Given the description of an element on the screen output the (x, y) to click on. 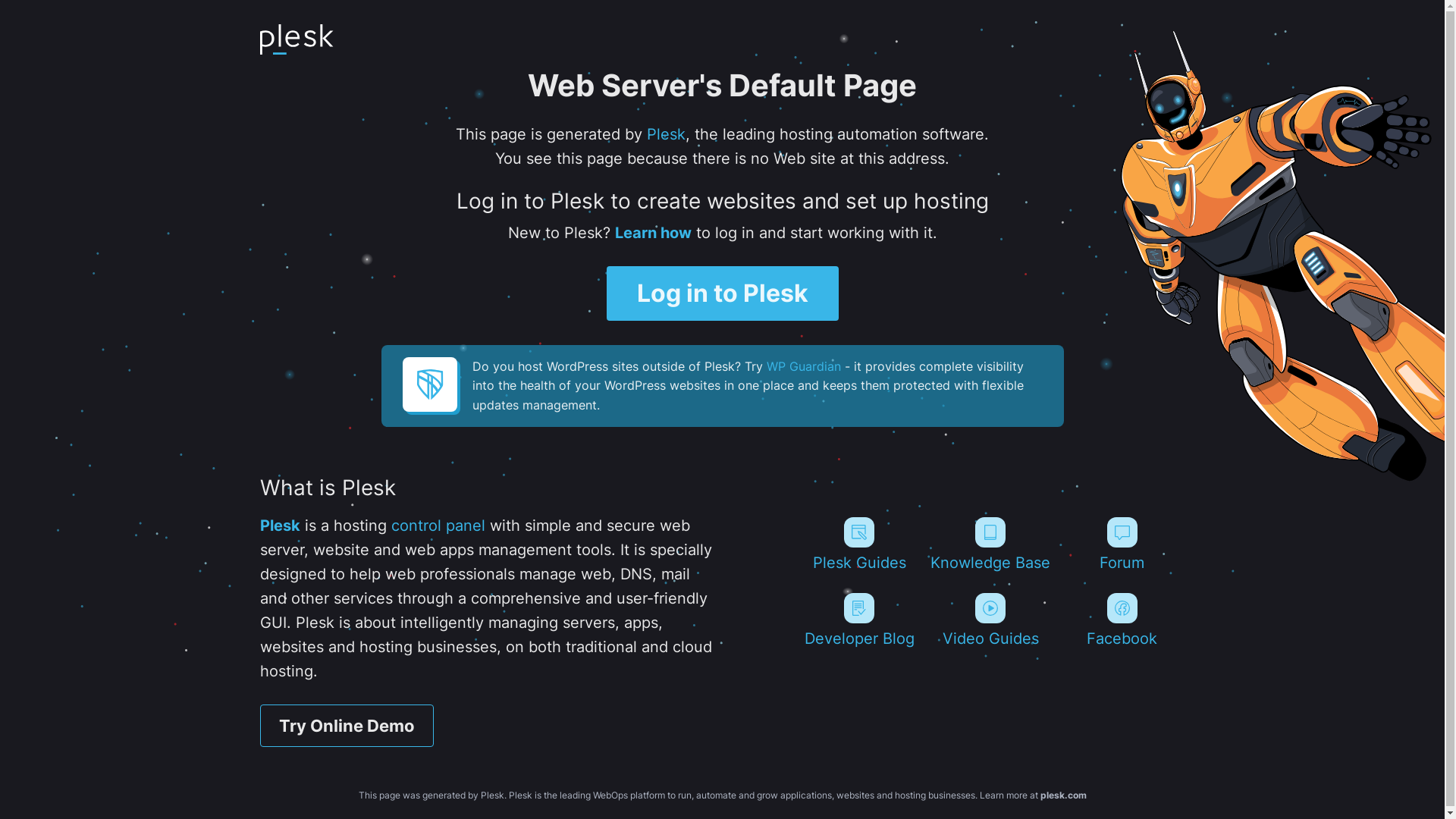
Knowledge Base Element type: text (990, 544)
Plesk Element type: text (279, 525)
Plesk Guides Element type: text (858, 544)
Forum Element type: text (1121, 544)
Plesk Element type: text (665, 134)
Facebook Element type: text (1121, 620)
control panel Element type: text (438, 525)
Learn how Element type: text (652, 232)
Log in to Plesk Element type: text (722, 293)
WP Guardian Element type: text (802, 365)
plesk.com Element type: text (1063, 794)
Try Online Demo Element type: text (346, 725)
Video Guides Element type: text (990, 620)
Developer Blog Element type: text (858, 620)
